Given the description of an element on the screen output the (x, y) to click on. 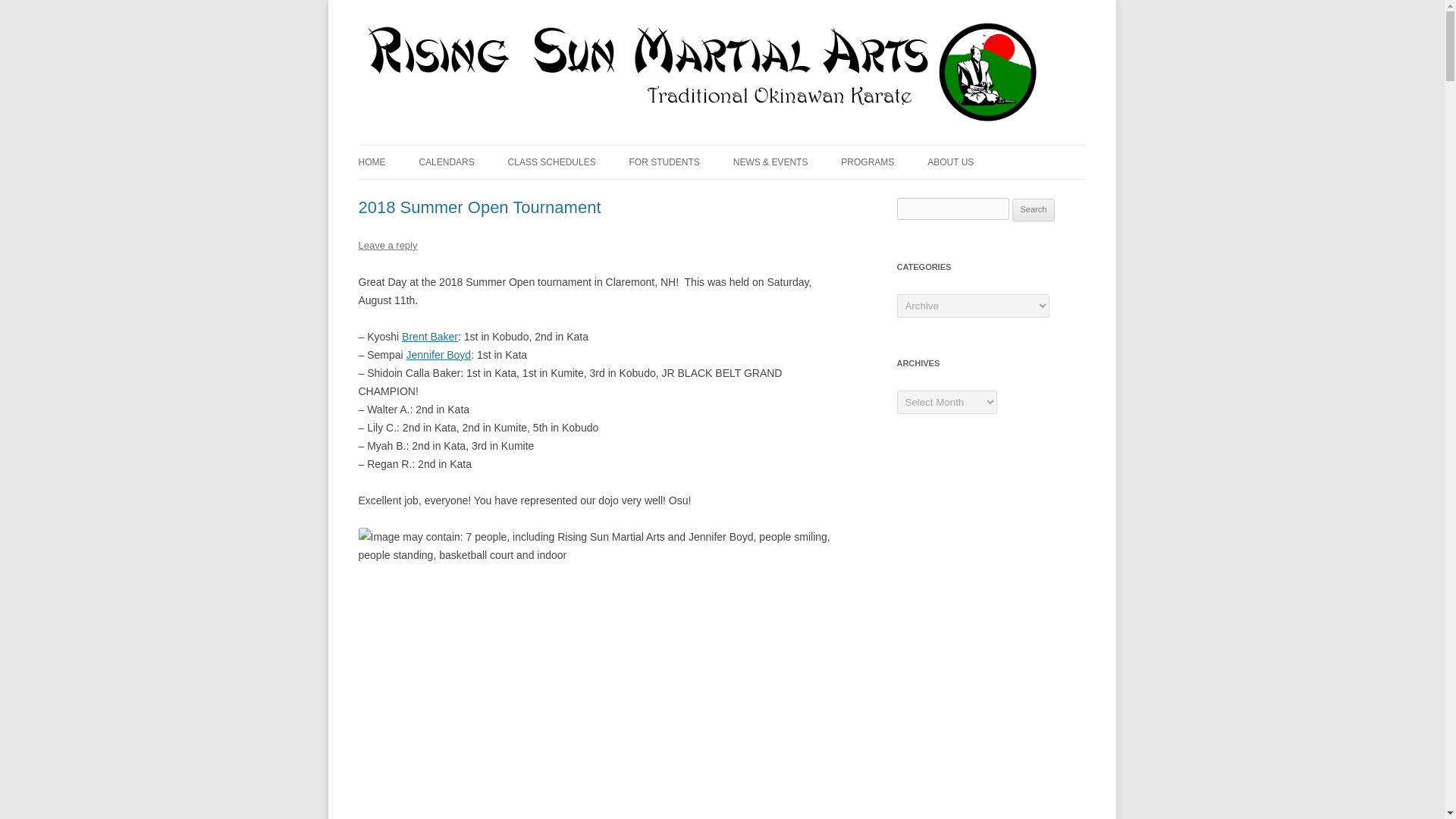
Jennifer Boyd (438, 354)
ARTICLES (704, 194)
CLASS SCHEDULES (551, 162)
Leave a reply (387, 244)
2018 Summer Open Tournament (478, 207)
PROGRAMS (867, 162)
SOCIAL MEDIA (809, 194)
FOR STUDENTS (664, 162)
OUR DIRECTOR (1002, 194)
Brent Baker (429, 336)
CALENDARS (446, 162)
Search (1033, 210)
ABOUT US (950, 162)
